Given the description of an element on the screen output the (x, y) to click on. 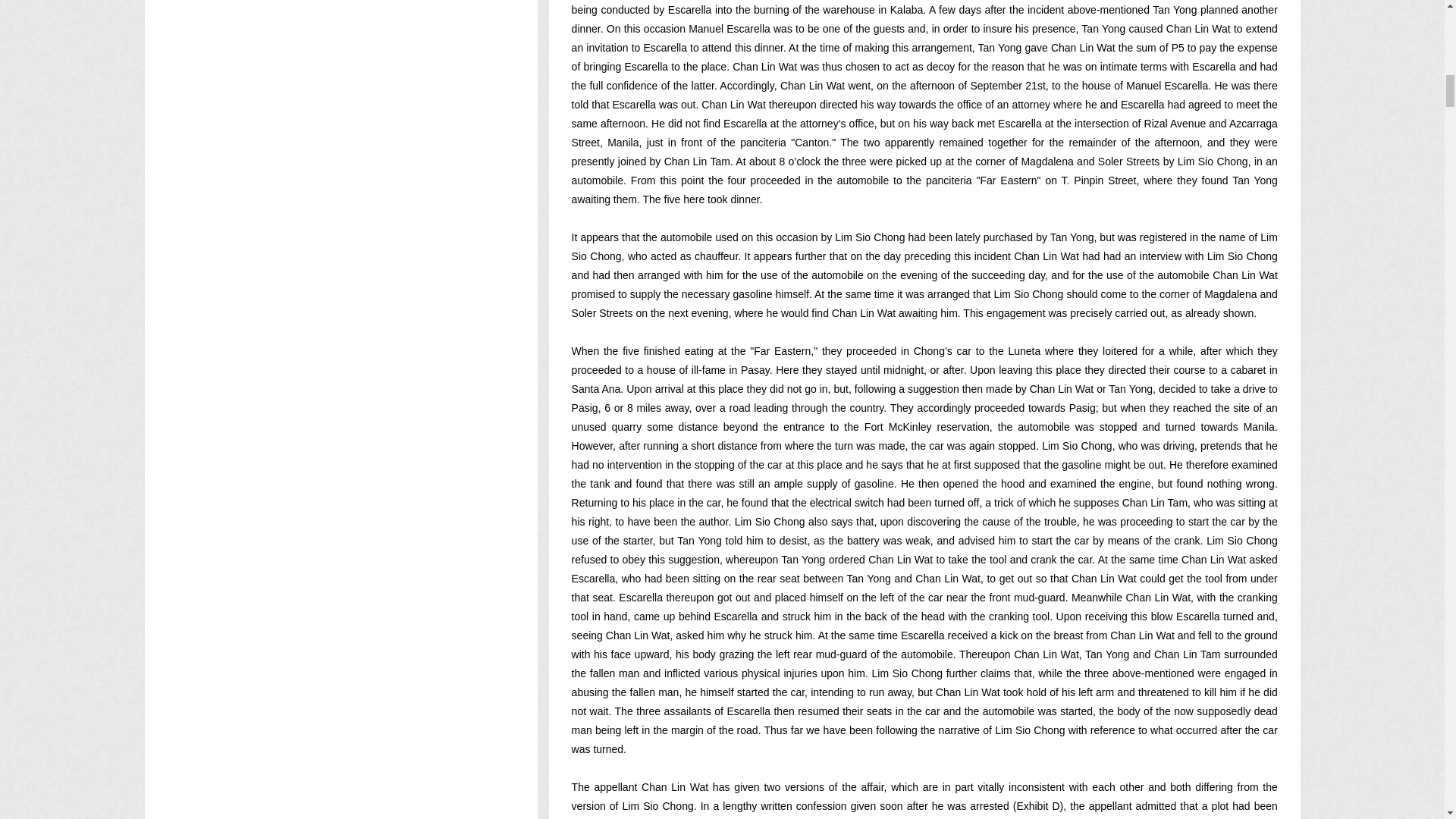
Advertisement (340, 720)
Advertisement (340, 388)
Advertisement (340, 77)
